Given the description of an element on the screen output the (x, y) to click on. 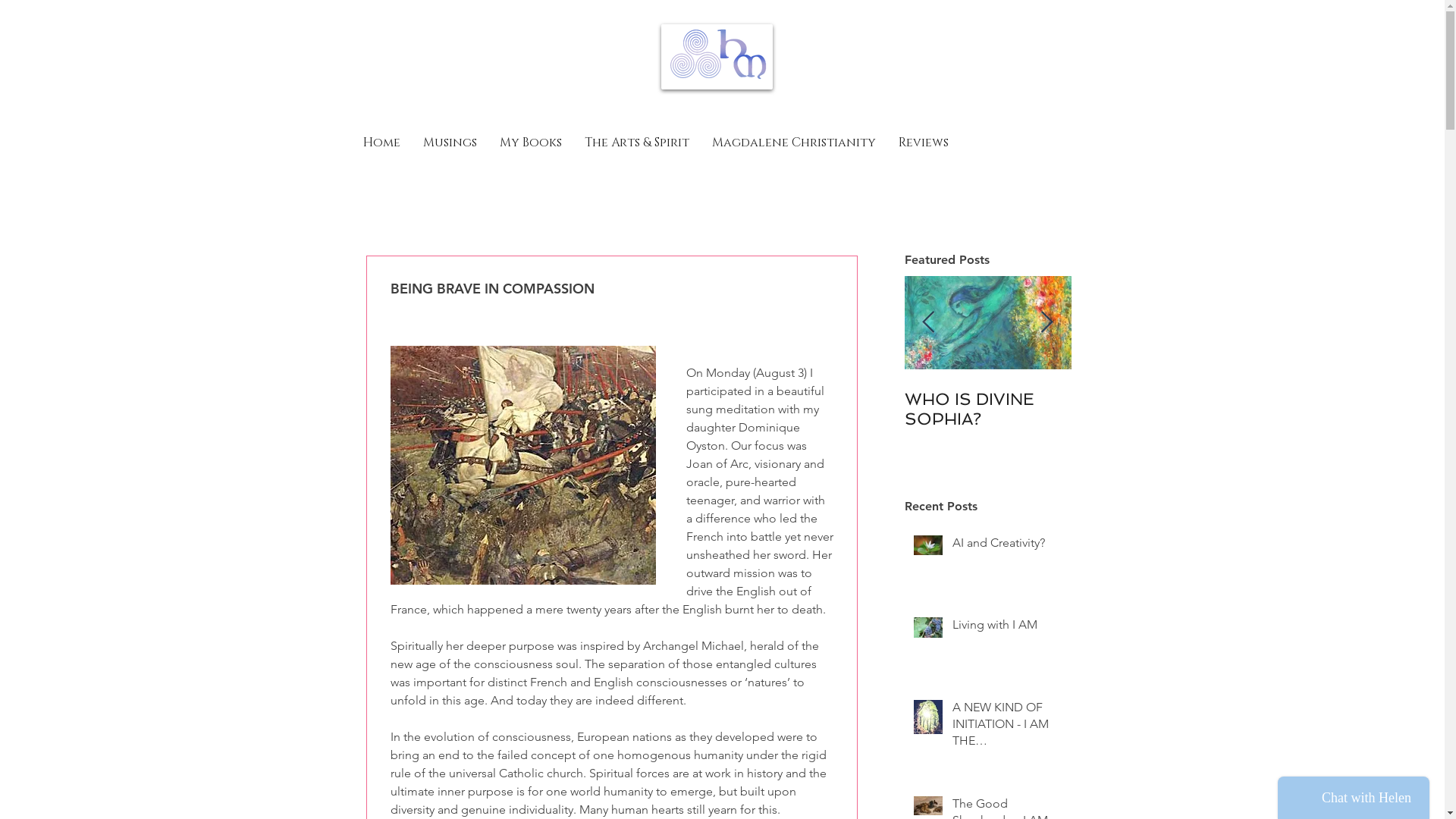
AI and Creativity? Element type: text (1006, 545)
My Books Element type: text (530, 142)
The Arts & Spirit Element type: text (636, 142)
WHEN BEAUTY SURPRISES US Element type: text (986, 408)
Home Element type: text (381, 142)
Magdalene Christianity Element type: text (793, 142)
WHO IS DIVINE SOPHIA? Element type: text (1153, 408)
triple spiral and Helen's initials Element type: hover (716, 56)
Musings Element type: text (449, 142)
Living with I AM Element type: text (1006, 627)
Reviews Element type: text (923, 142)
